Given the description of an element on the screen output the (x, y) to click on. 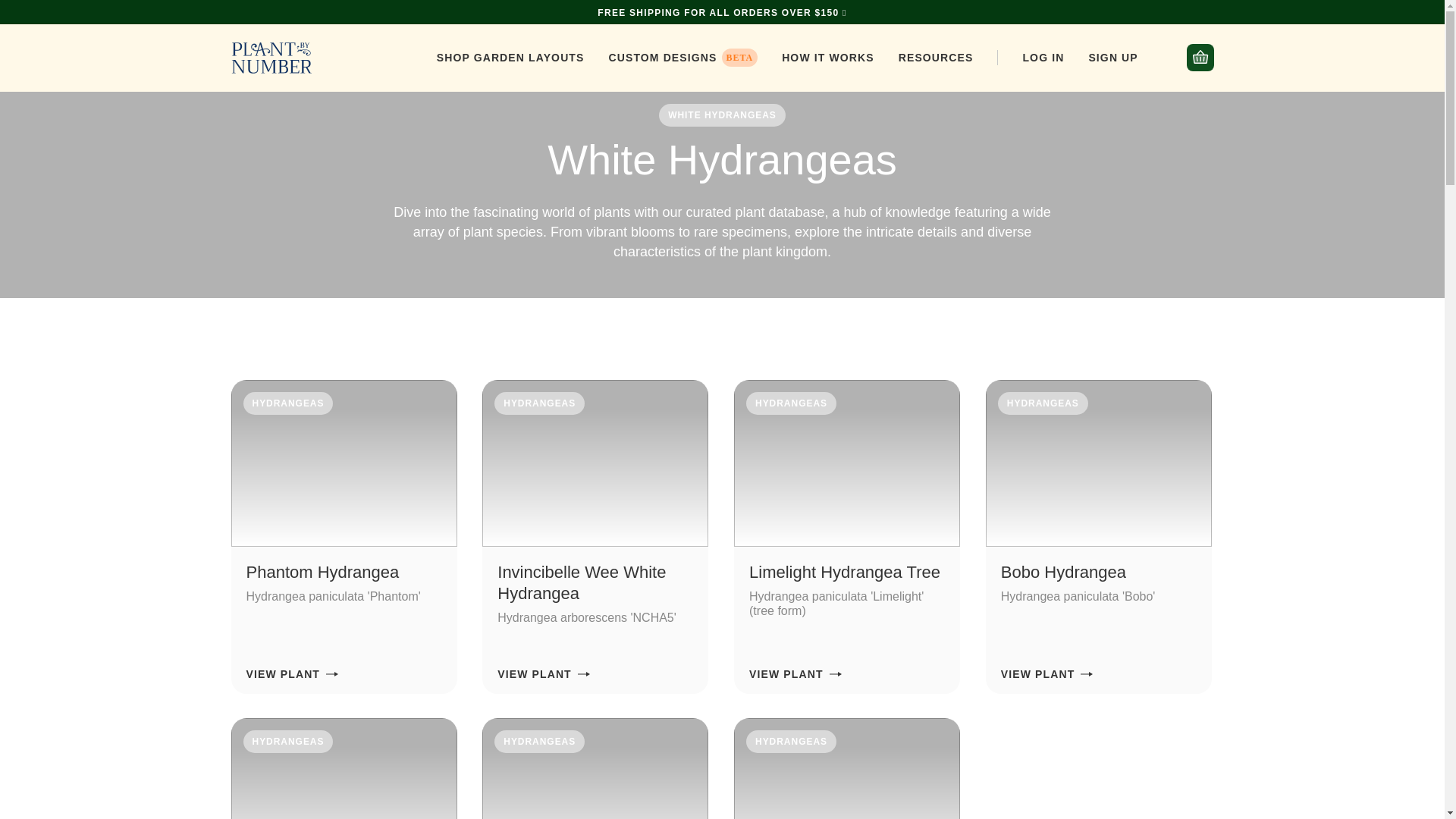
SIGN UP (1112, 57)
LOG IN (1043, 57)
HOW IT WORKS (828, 57)
RESOURCES (936, 57)
SHOP GARDEN LAYOUTS (510, 57)
CUSTOM DESIGNS (662, 57)
